Given the description of an element on the screen output the (x, y) to click on. 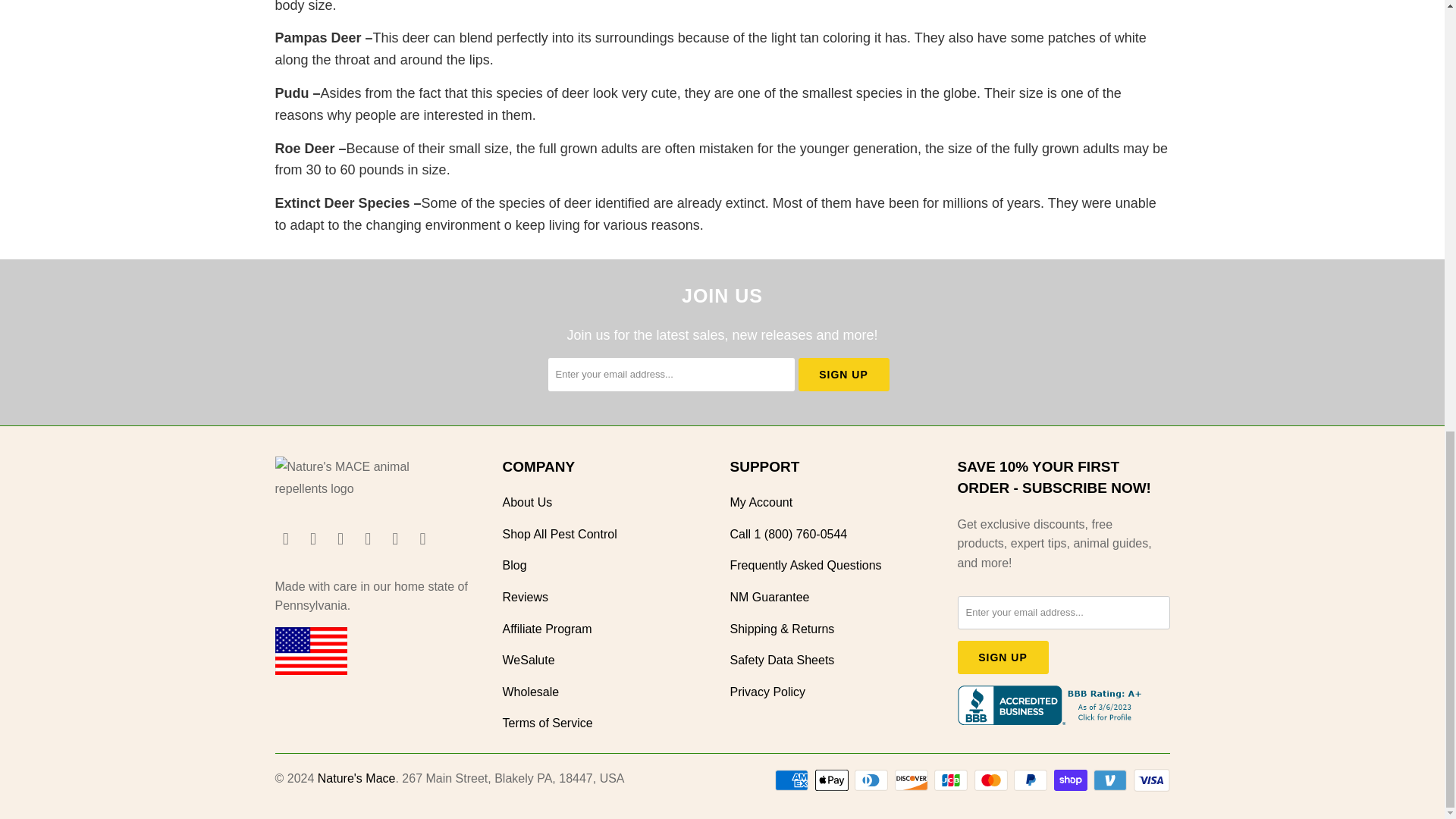
PayPal (1031, 780)
American Express (792, 780)
Nature's Mace on Pinterest (368, 538)
JCB (952, 780)
Mastercard (992, 780)
Apple Pay (833, 780)
Visa (1150, 780)
Sign Up (842, 374)
Discover (913, 780)
Shop Pay (1072, 780)
Nature's Mace on LinkedIn (341, 538)
Diners Club (872, 780)
Sign Up (1002, 657)
Venmo (1111, 780)
Nature's Mace on Twitter (395, 538)
